Given the description of an element on the screen output the (x, y) to click on. 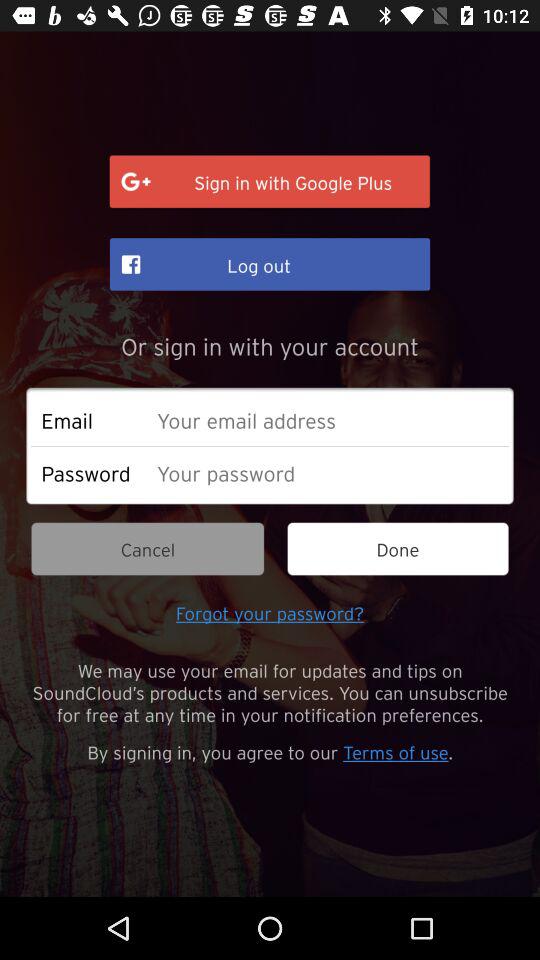
enter the password (327, 472)
